Given the description of an element on the screen output the (x, y) to click on. 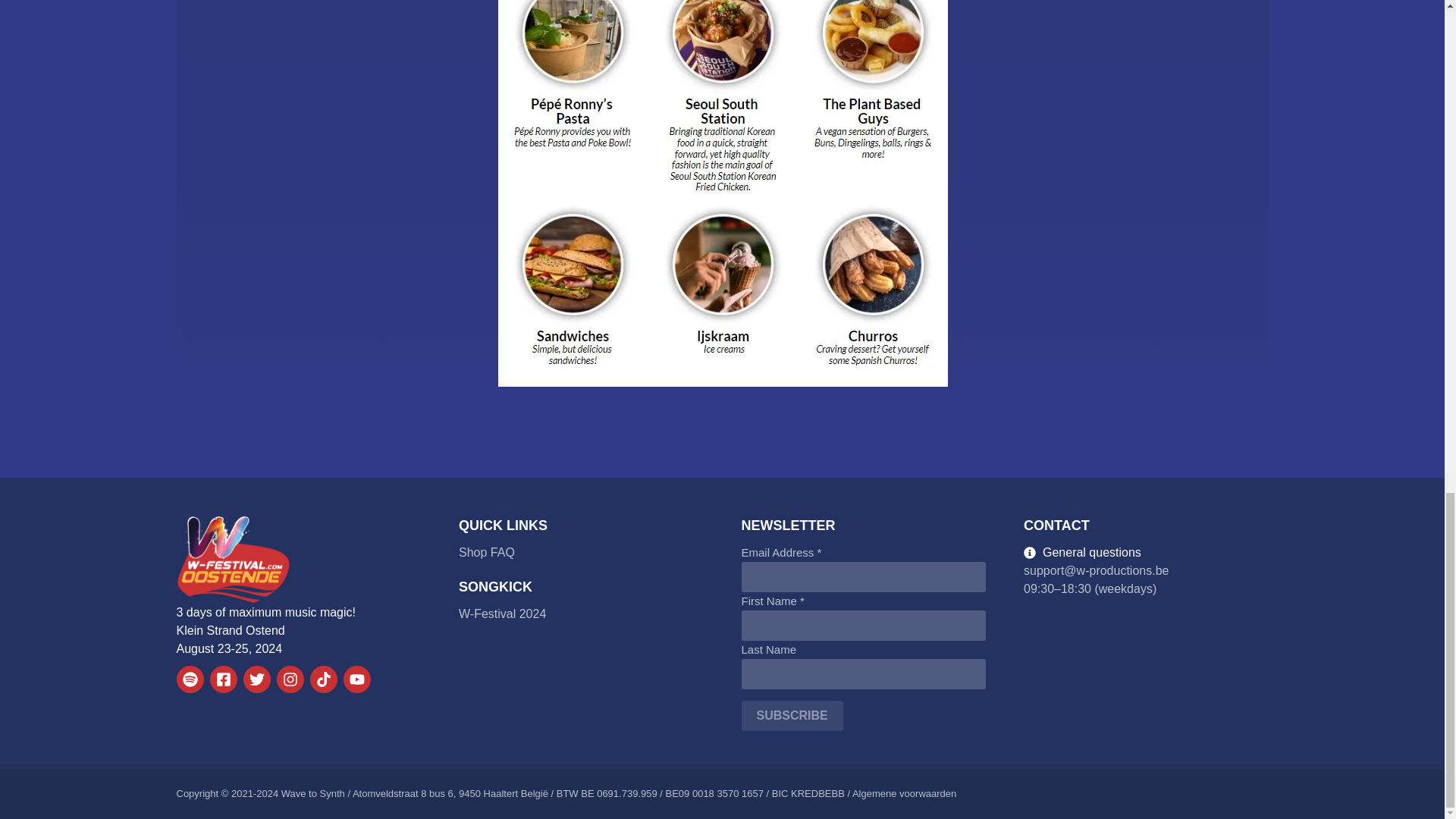
Subscribe (792, 716)
